Given the description of an element on the screen output the (x, y) to click on. 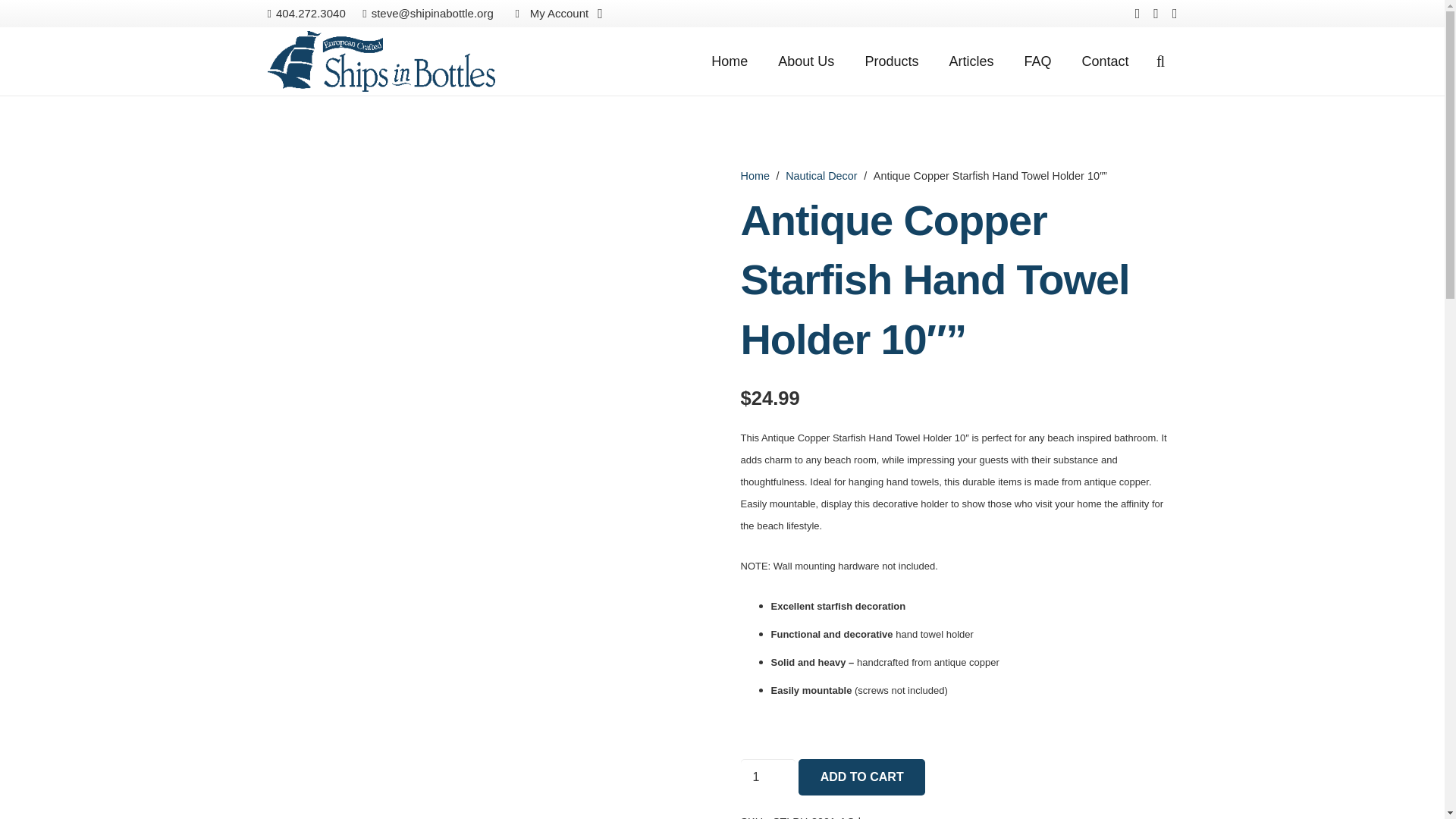
ADD TO CART (861, 777)
Home (753, 175)
My Account (555, 13)
Products (890, 61)
Articles (971, 61)
Contact (1103, 61)
Nautical Decor (821, 175)
1 (766, 777)
Home (728, 61)
404.272.3040 (305, 12)
About Us (805, 61)
